Given the description of an element on the screen output the (x, y) to click on. 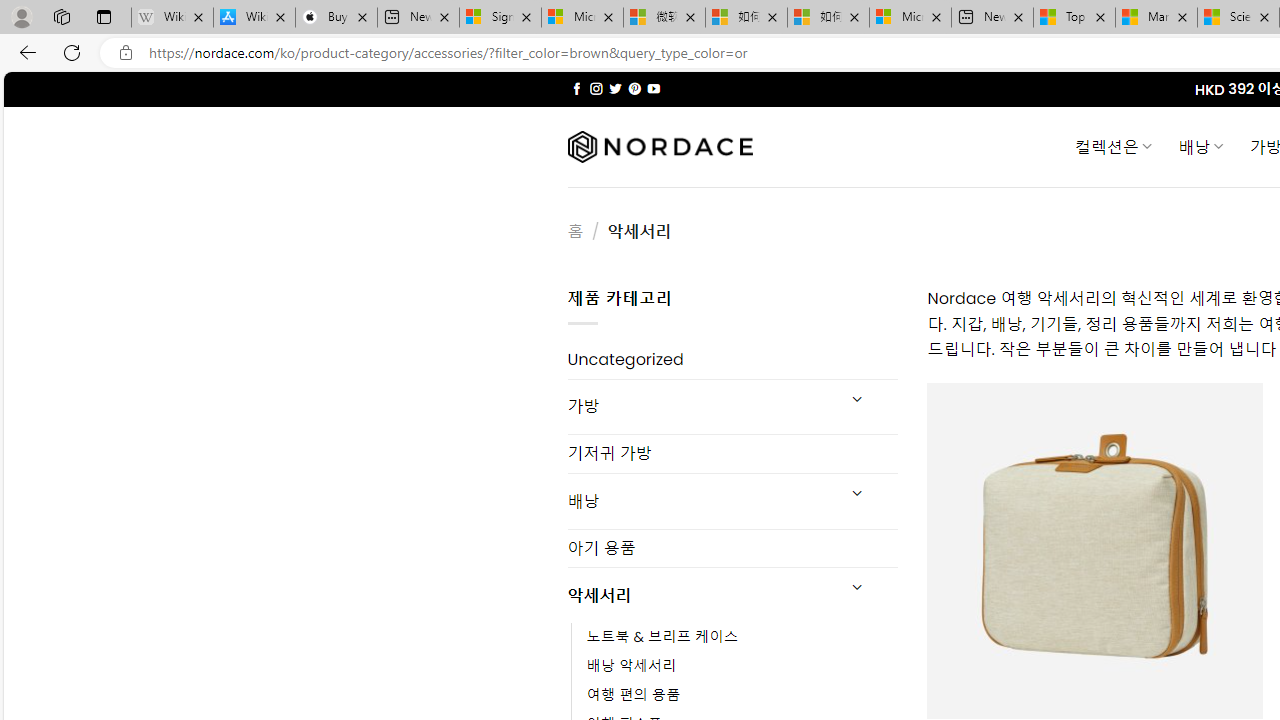
Marine life - MSN (1156, 17)
